Given the description of an element on the screen output the (x, y) to click on. 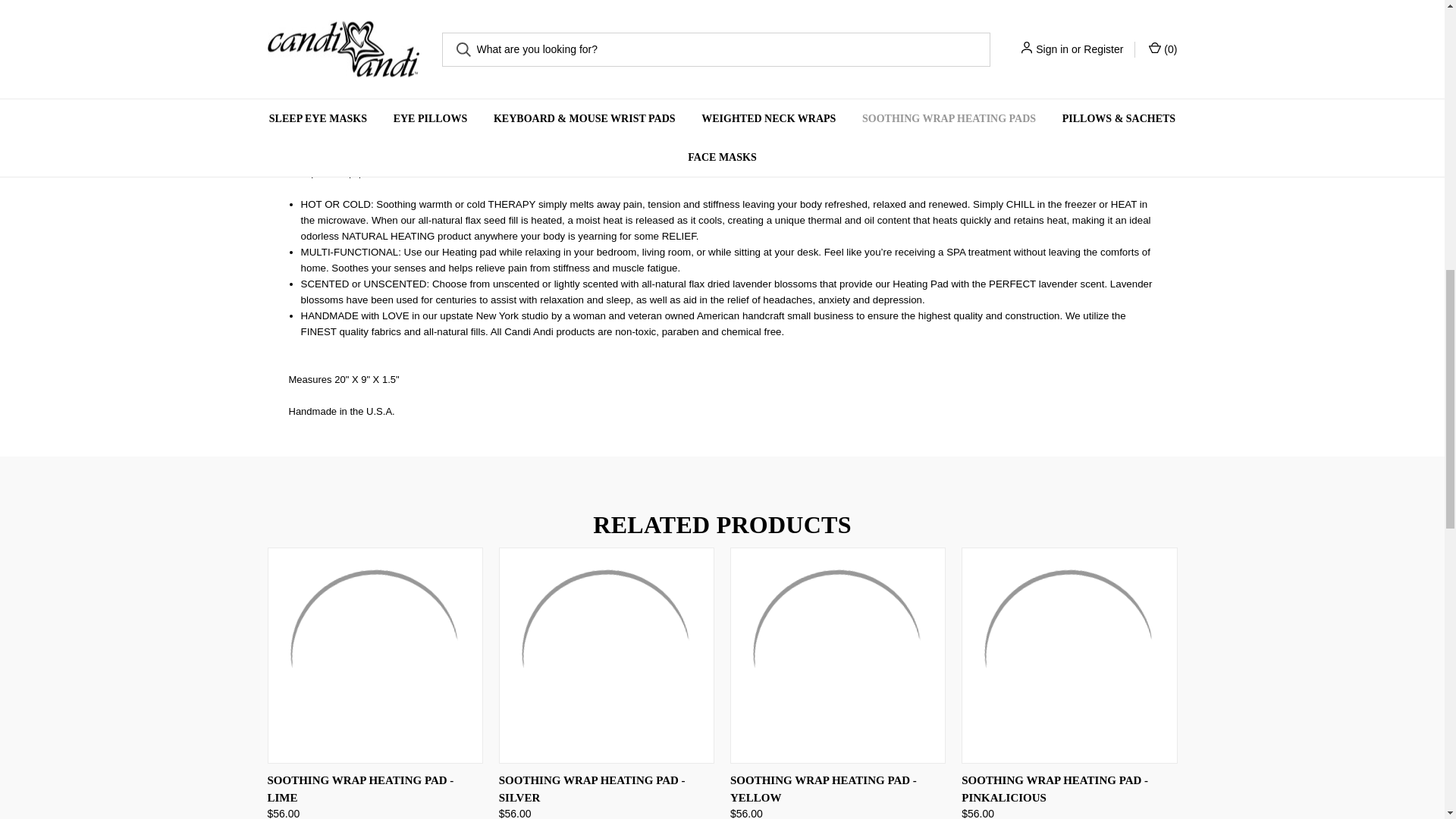
Soothing Wrap Heating Pad - Hot Pink (534, 6)
Soothing Wrap Heating Pad - Pinkalicious (1068, 655)
Soothing Wrap Heating Pad - Lime (374, 655)
Soothing Wrap Heating Pad - Hot Pink (427, 9)
Soothing Wrap Heating Pad - Hot Pink (640, 6)
Soothing Wrap Heating Pad - Silver (606, 655)
Soothing Wrap Heating Pad - Hot Pink (748, 8)
Soothing Wrap Heating Pad - Yellow (837, 655)
Soothing Wrap Heating Pad - Hot Pink (320, 3)
